Given the description of an element on the screen output the (x, y) to click on. 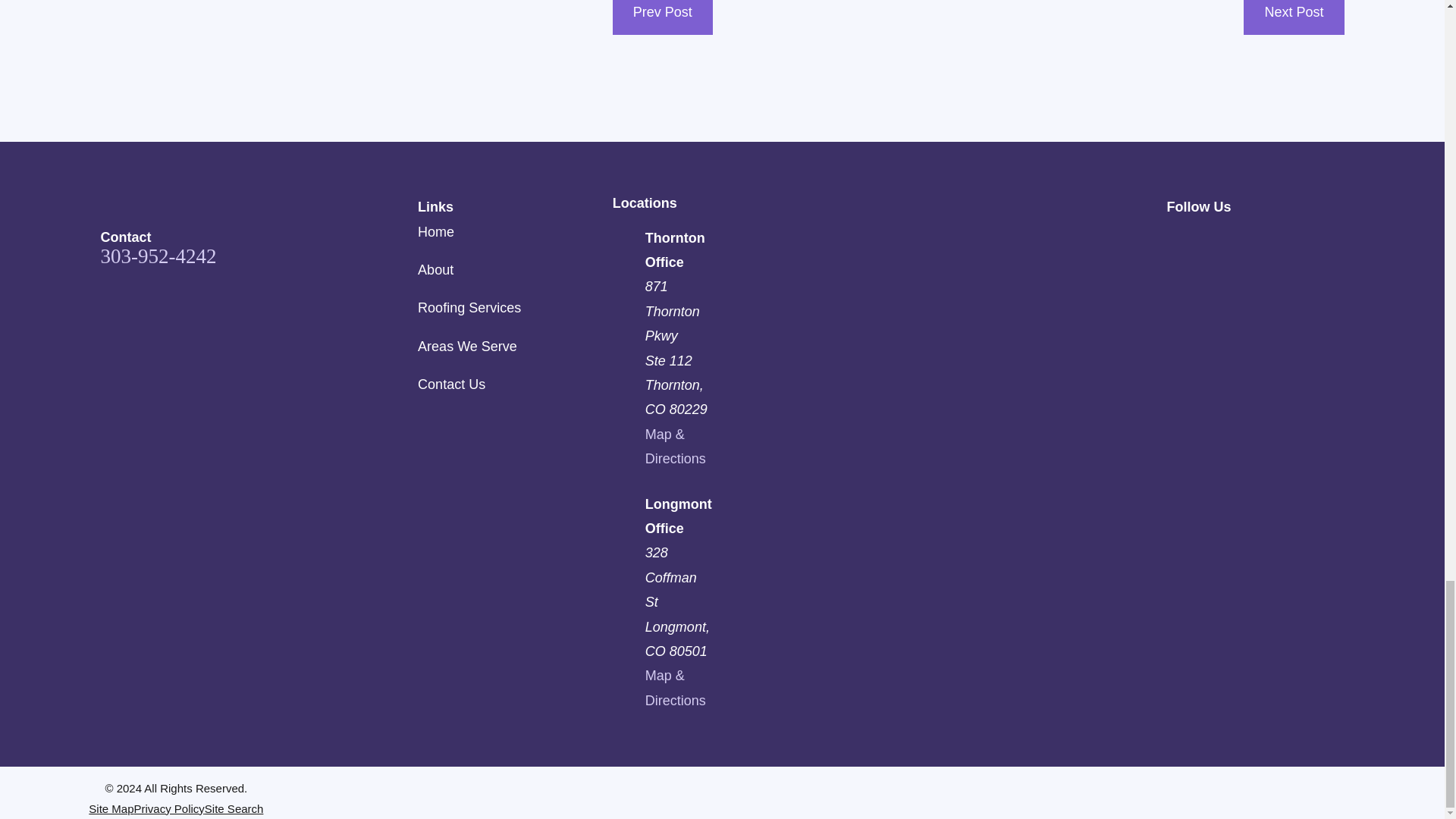
Facebook (1216, 242)
Google Business Profile (1176, 242)
Instagram (1255, 242)
LinkedIn (1294, 242)
Yelp (1333, 242)
